Given the description of an element on the screen output the (x, y) to click on. 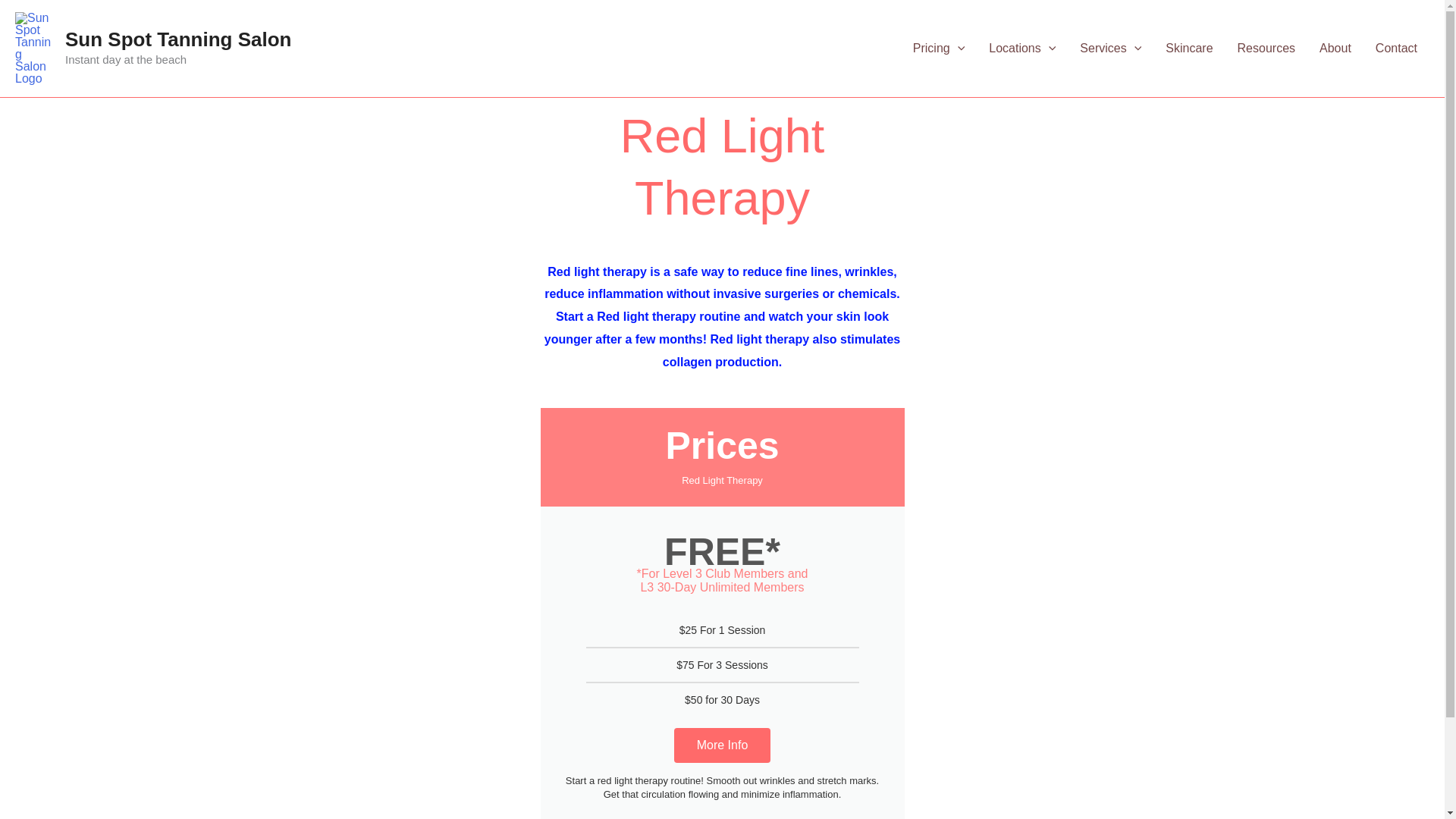
Services (1110, 48)
Contact (1395, 48)
Skincare (1188, 48)
Sun Spot Tanning Salon (178, 38)
Pricing (938, 48)
Resources (1266, 48)
Locations (1021, 48)
About (1334, 48)
